Given the description of an element on the screen output the (x, y) to click on. 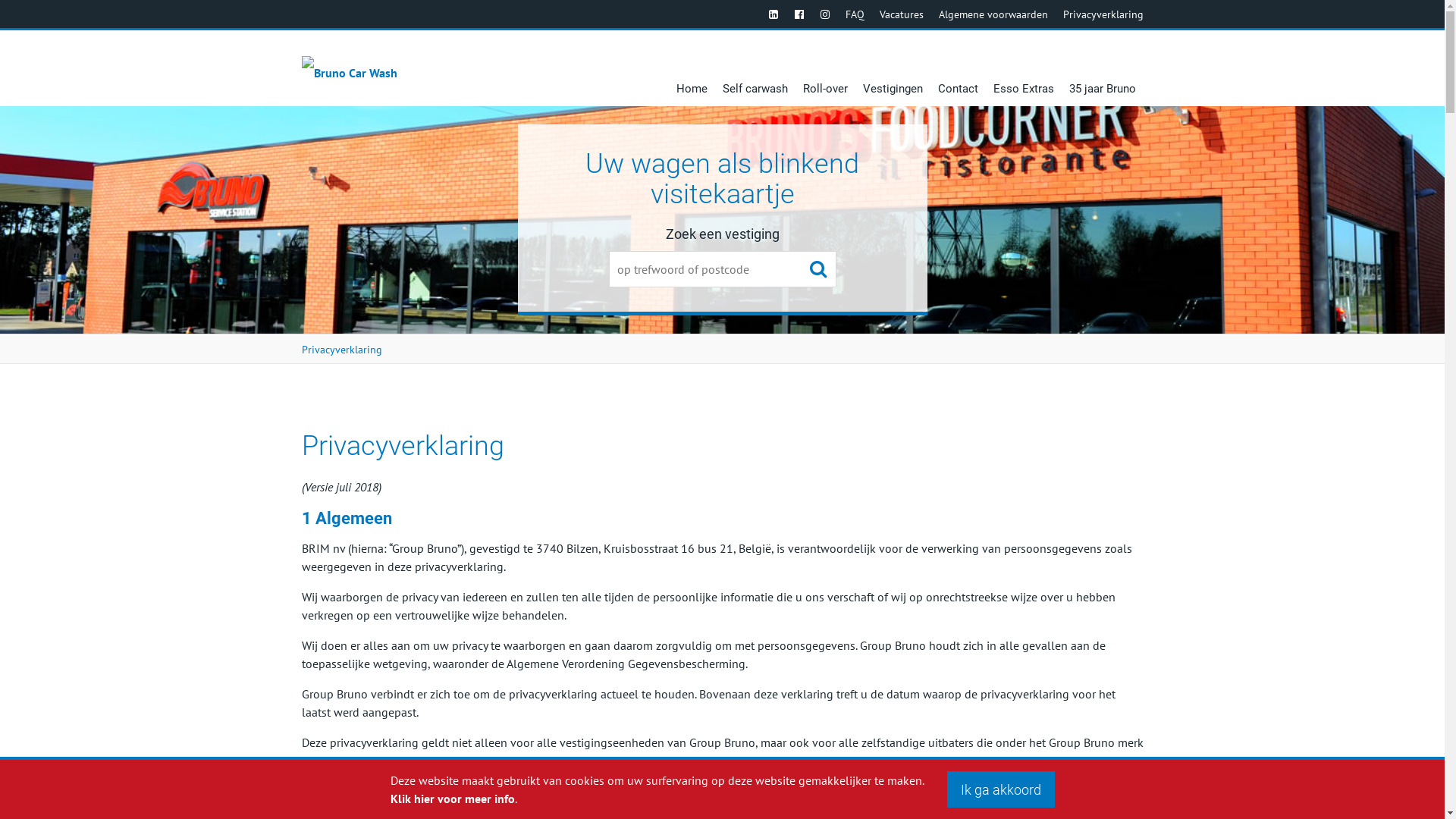
Contact Element type: text (957, 68)
35 jaar Bruno Element type: text (1102, 68)
Klik hier voor meer info Element type: text (451, 798)
Privacyverklaring Element type: text (341, 349)
Roll-over Element type: text (824, 68)
Self carwash Element type: text (754, 68)
Vestigingen Element type: text (892, 68)
Esso Extras Element type: text (1023, 68)
Vacatures Element type: text (901, 14)
Algemene voorwaarden Element type: text (993, 14)
Ik ga akkoord Element type: text (1000, 789)
FAQ Element type: text (853, 14)
Privacyverklaring Element type: text (1103, 14)
Home Element type: text (691, 68)
